Given the description of an element on the screen output the (x, y) to click on. 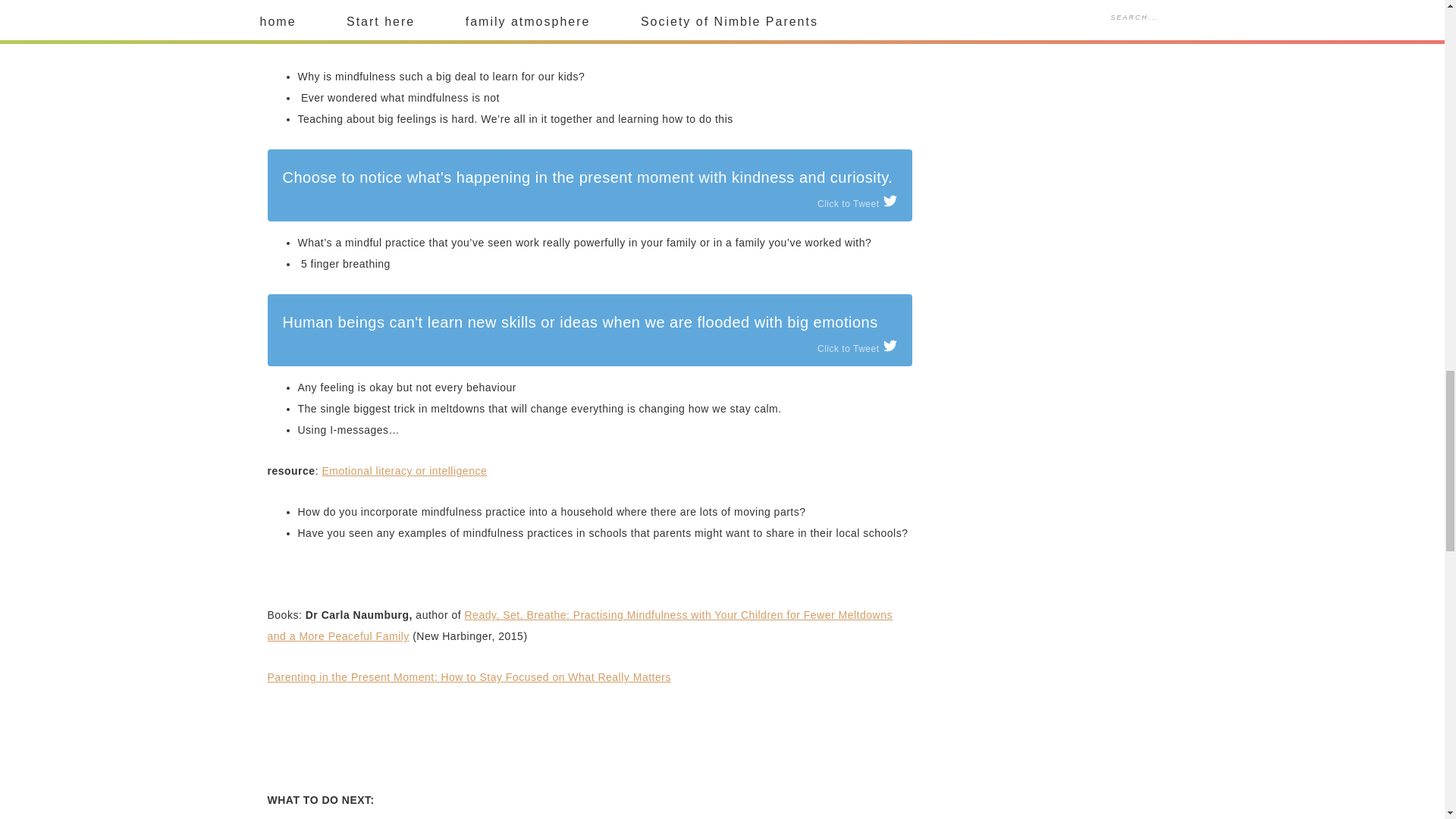
Emotional literacy or intelligence (403, 470)
